Given the description of an element on the screen output the (x, y) to click on. 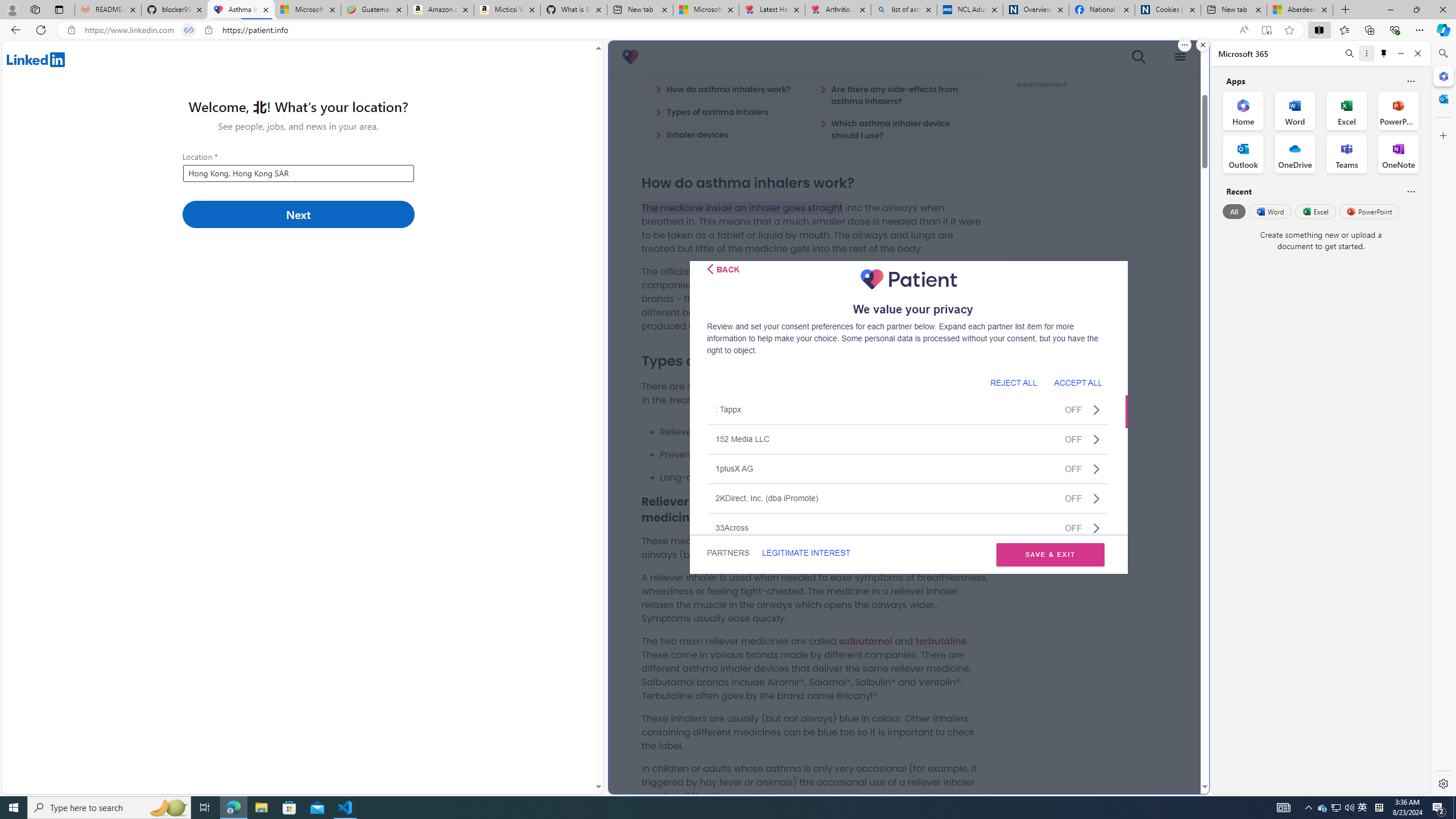
search (1138, 56)
menu icon (1179, 56)
LEGITIMATE INTEREST (805, 552)
PowerPoint (1369, 210)
Patient 3.0 (630, 56)
All (1233, 210)
More options. (1183, 45)
